Given the description of an element on the screen output the (x, y) to click on. 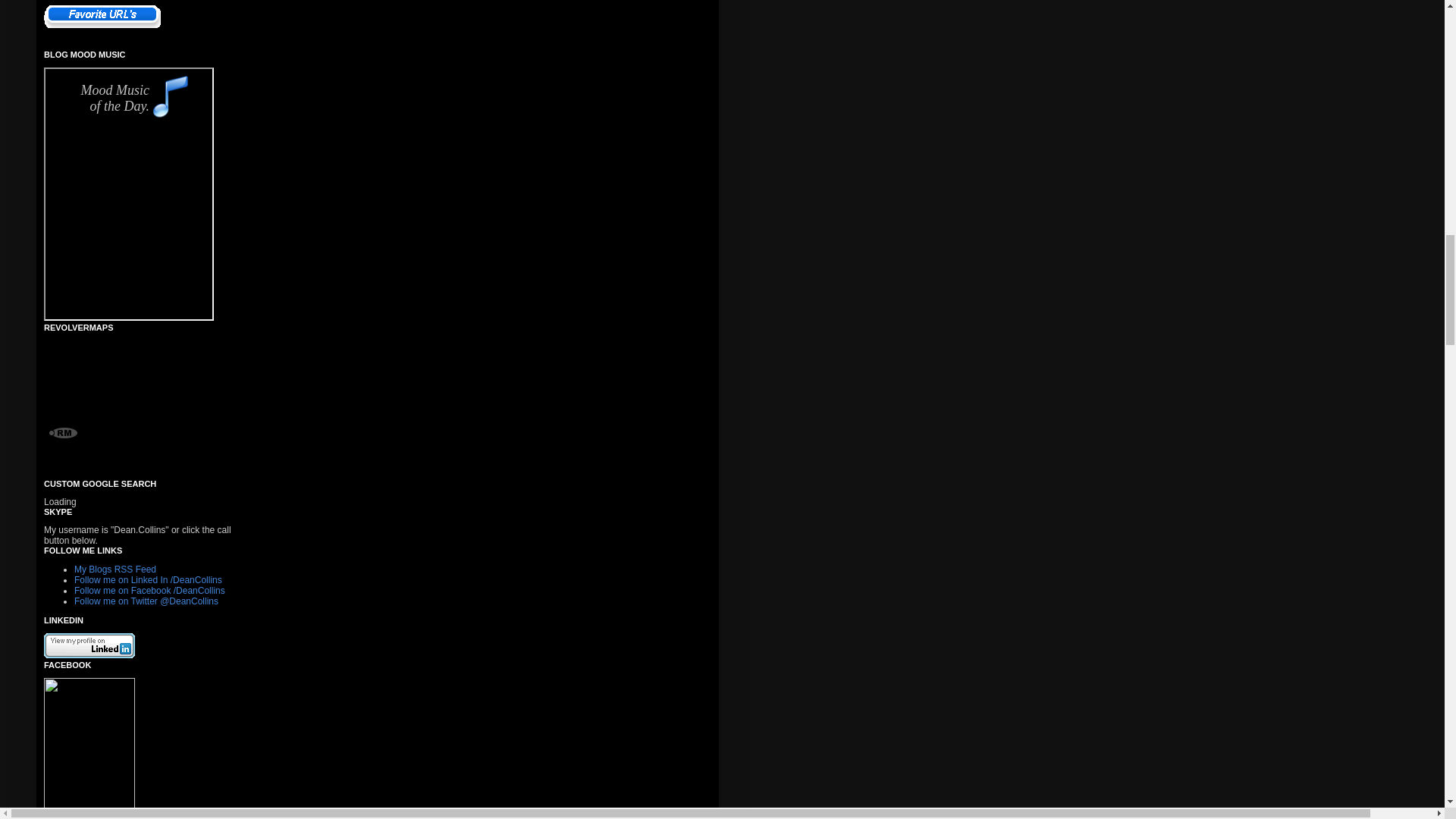
My Blogs RSS Feed (114, 569)
